Given the description of an element on the screen output the (x, y) to click on. 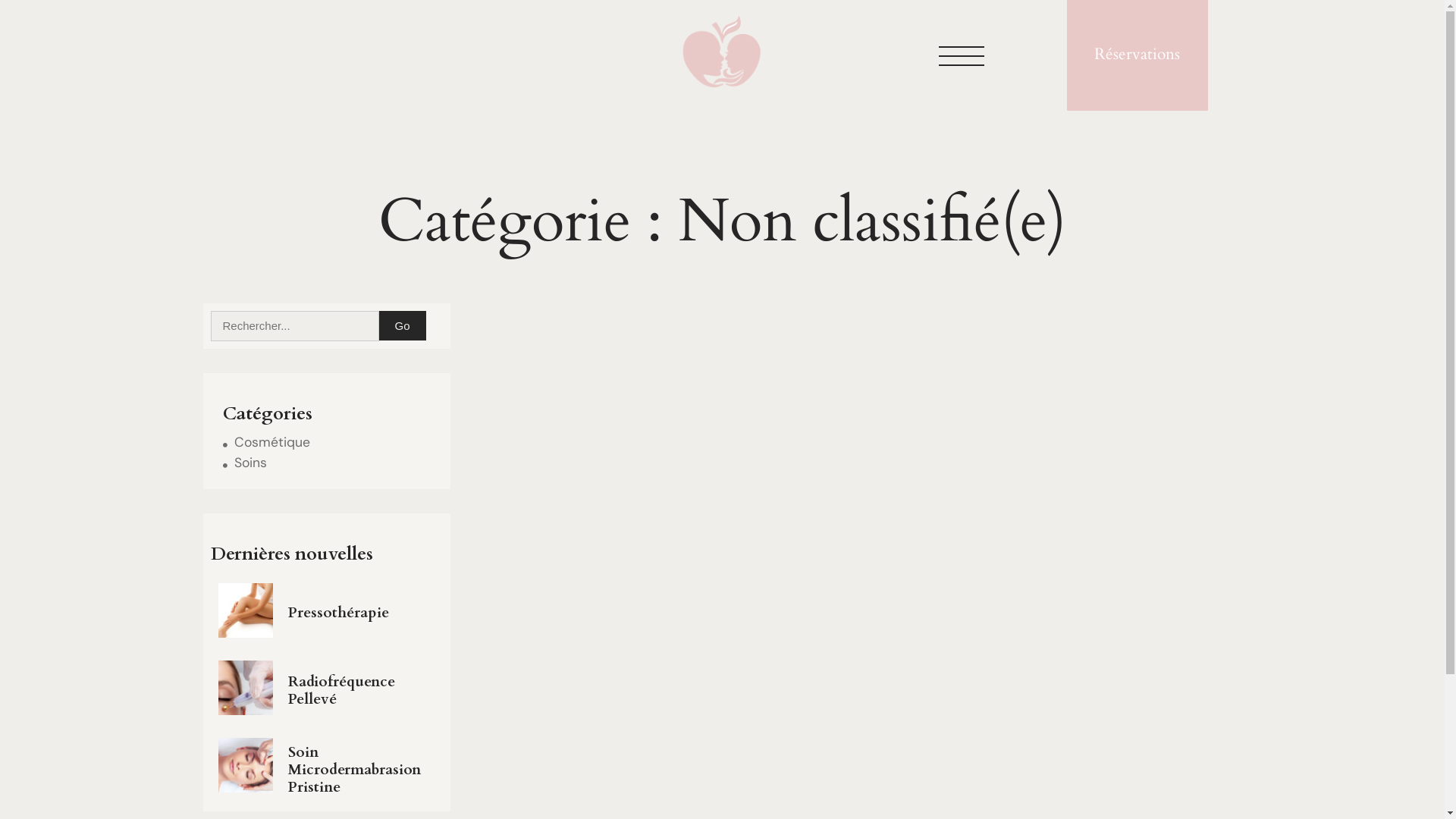
Soin Microdermabrasion Pristine Element type: text (361, 769)
Go Element type: text (402, 325)
Soins Element type: text (244, 462)
Search for: Element type: hover (294, 325)
